Given the description of an element on the screen output the (x, y) to click on. 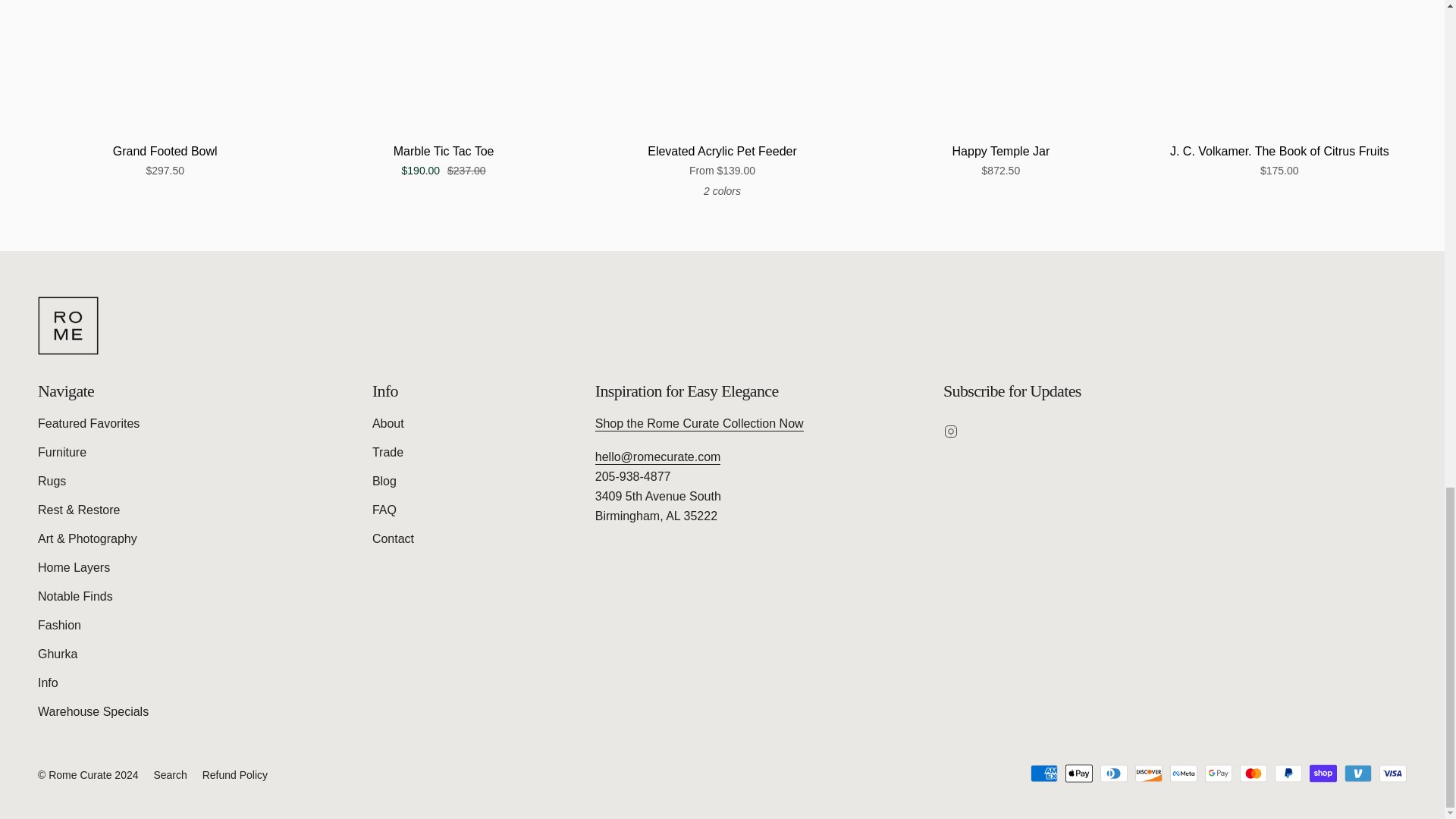
Discover (1148, 773)
Visa (1392, 773)
Mastercard (1253, 773)
Google Pay (1218, 773)
Apple Pay (1079, 773)
PayPal (1288, 773)
American Express (1044, 773)
Meta Pay (1183, 773)
Venmo (1357, 773)
Diners Club (1113, 773)
Shop Pay (1322, 773)
Rome Curate on Instagram (950, 430)
Rome Curate Collection (699, 425)
